Given the description of an element on the screen output the (x, y) to click on. 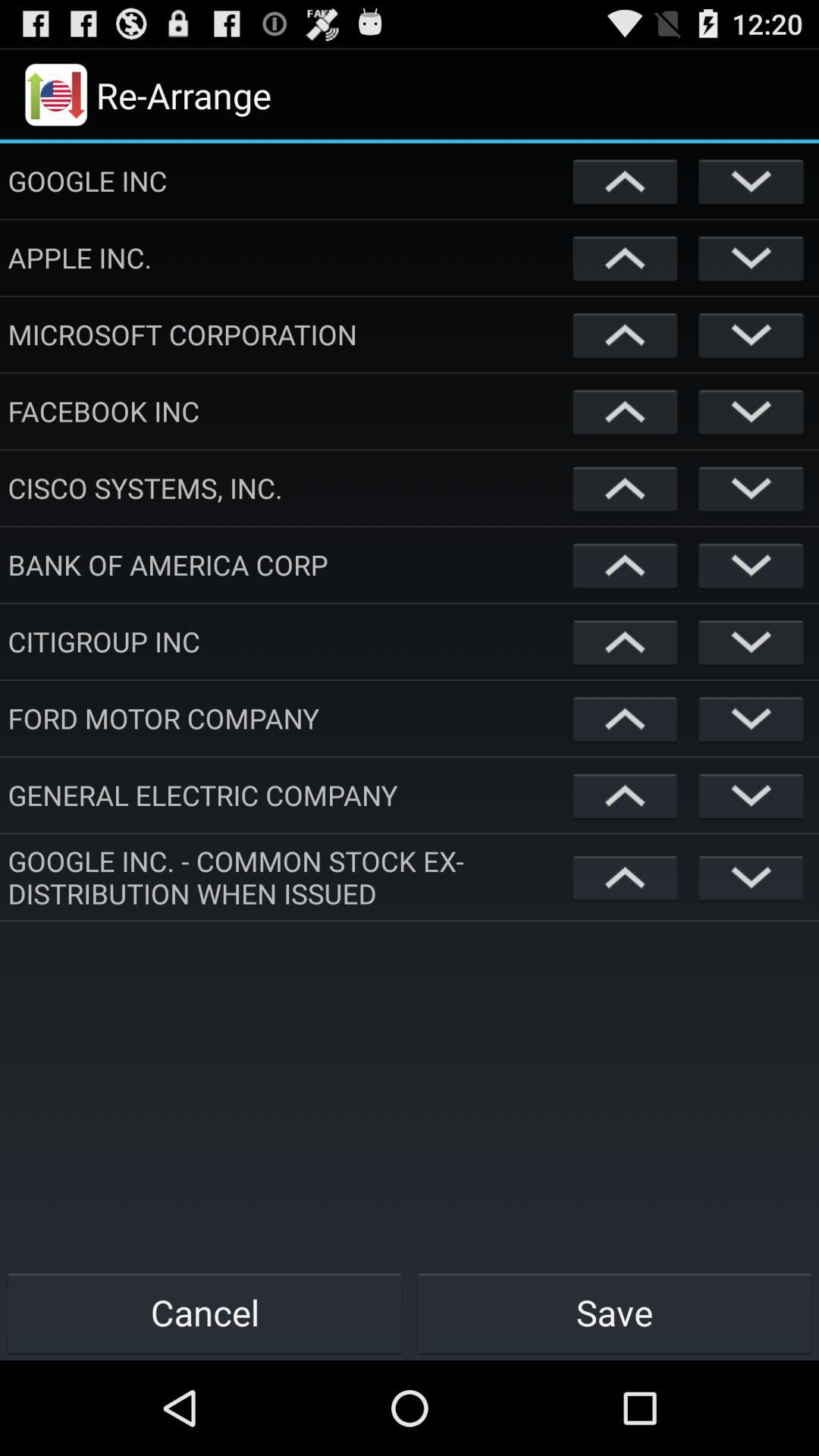
go to back (624, 334)
